Given the description of an element on the screen output the (x, y) to click on. 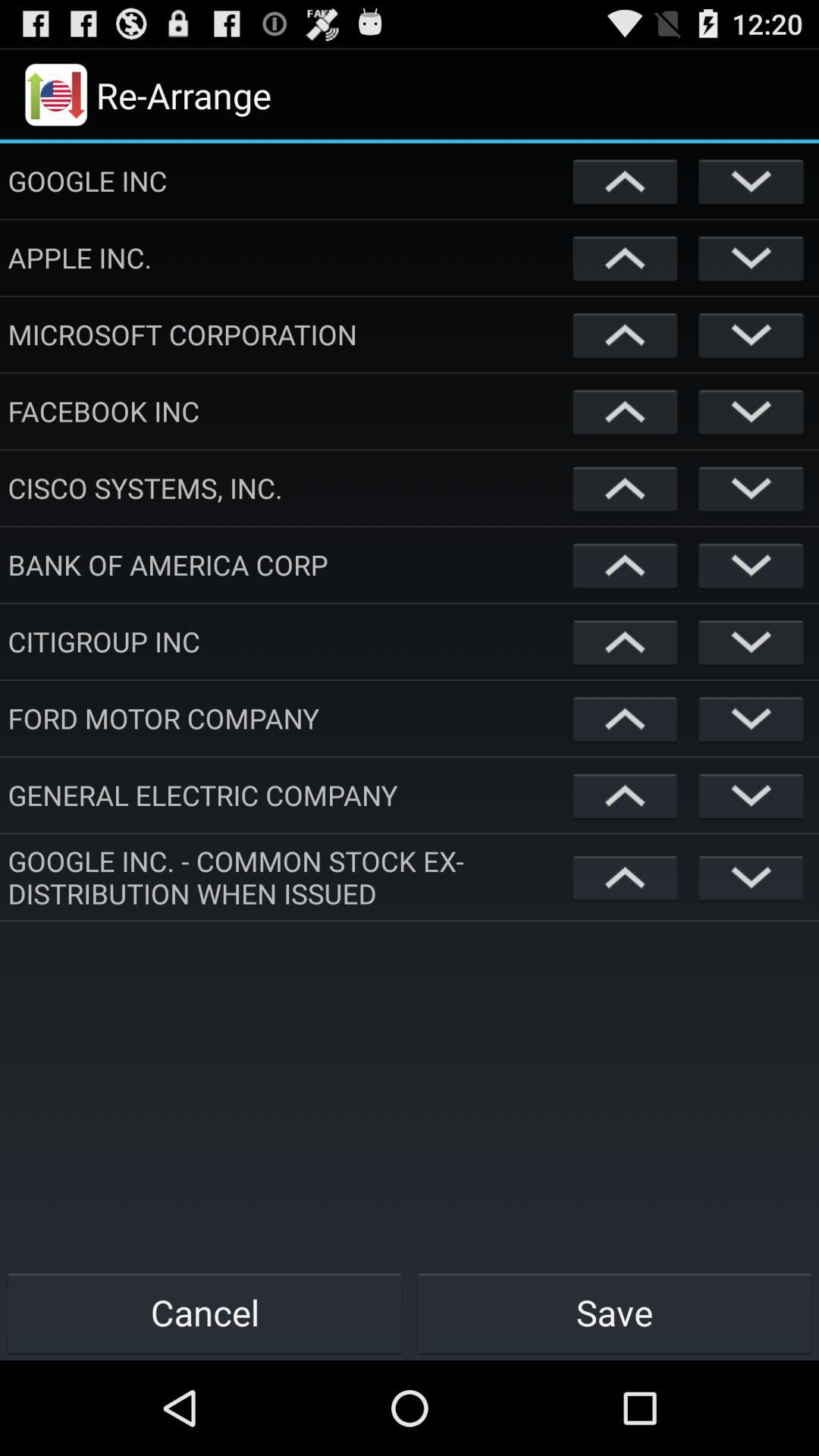
go to back (624, 334)
